Given the description of an element on the screen output the (x, y) to click on. 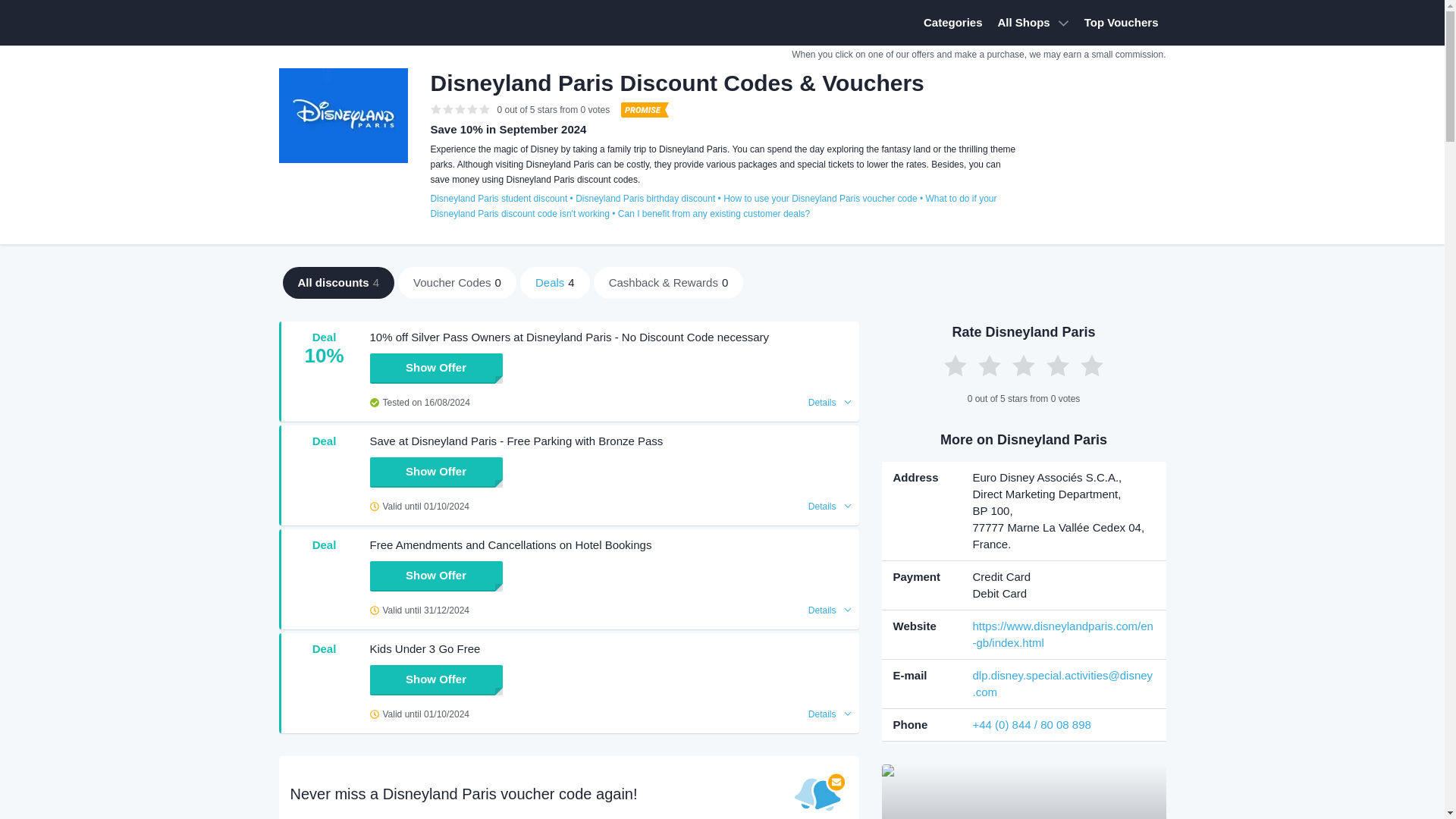
Disneyland Paris birthday discount (644, 198)
Disneyland Paris student discount (498, 198)
Top Vouchers (1121, 22)
Details (829, 402)
Show Offer (435, 368)
Categories (952, 22)
All discounts4 (338, 282)
Can I benefit from any existing customer deals? (713, 213)
Details (829, 506)
